Given the description of an element on the screen output the (x, y) to click on. 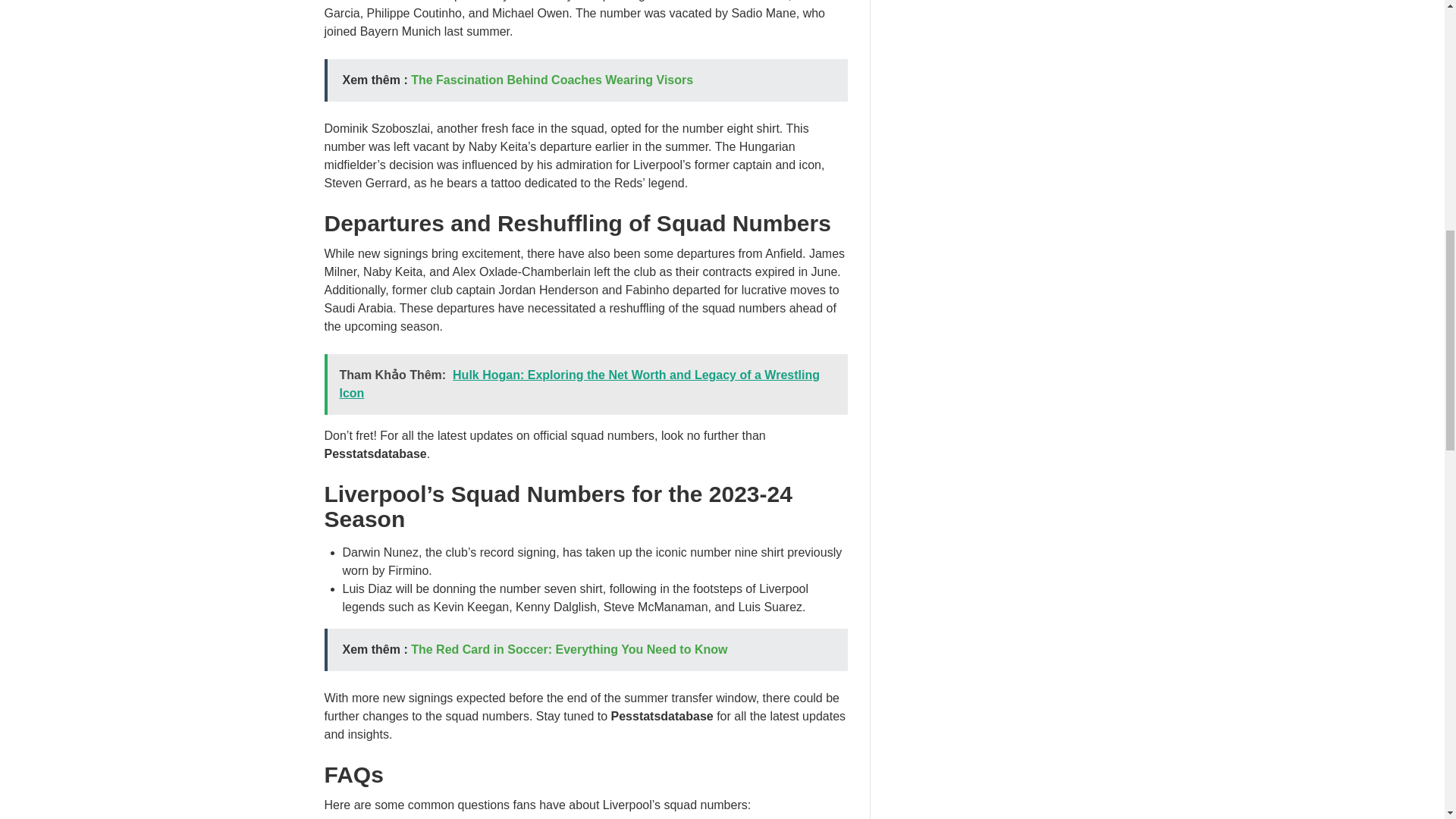
The Fascination Behind Coaches Wearing Visors (551, 79)
The Red Card in Soccer: Everything You Need to Know (568, 649)
